Given the description of an element on the screen output the (x, y) to click on. 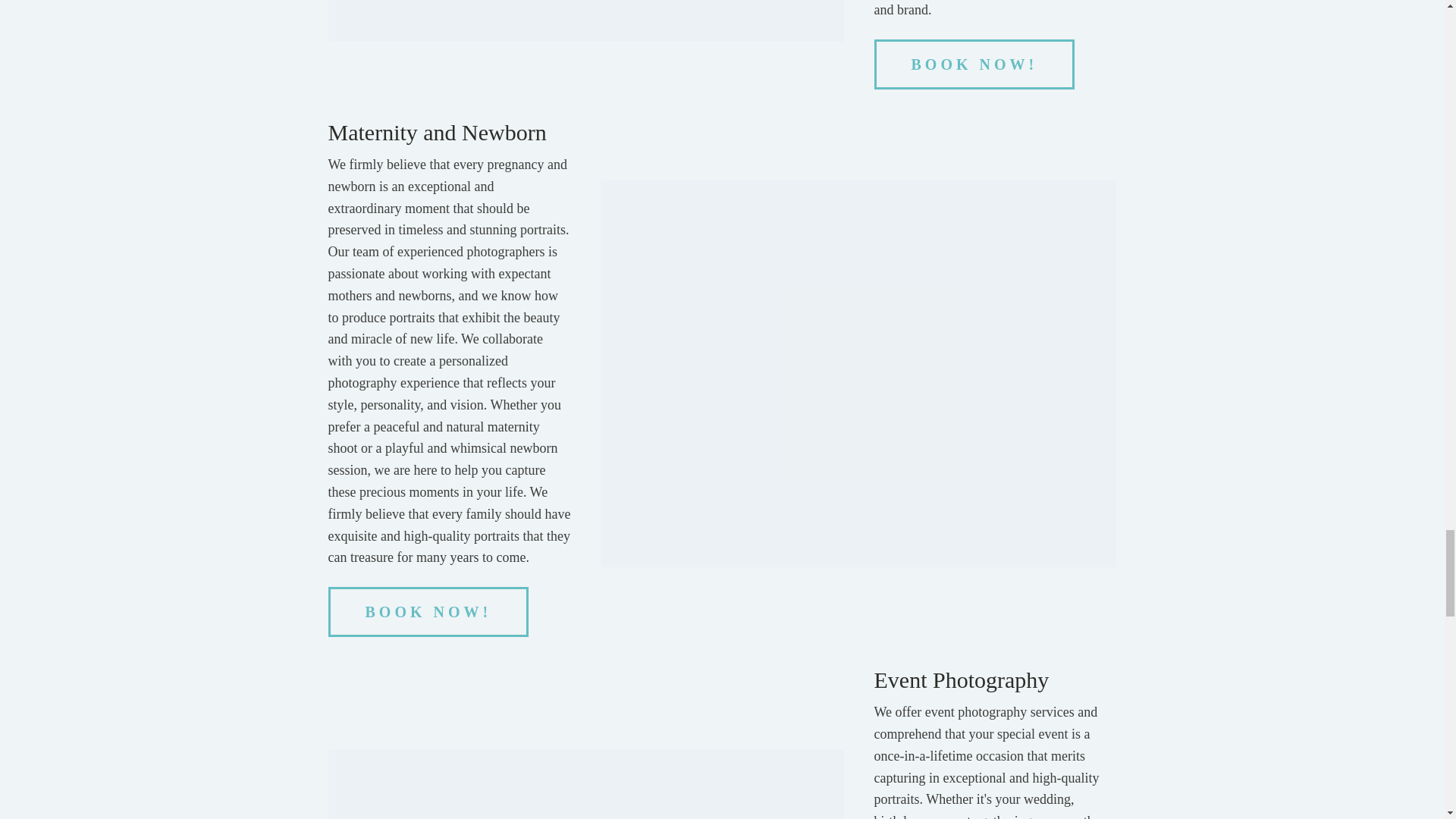
BOOK NOW! (427, 612)
BOOK NOW! (975, 64)
